Given the description of an element on the screen output the (x, y) to click on. 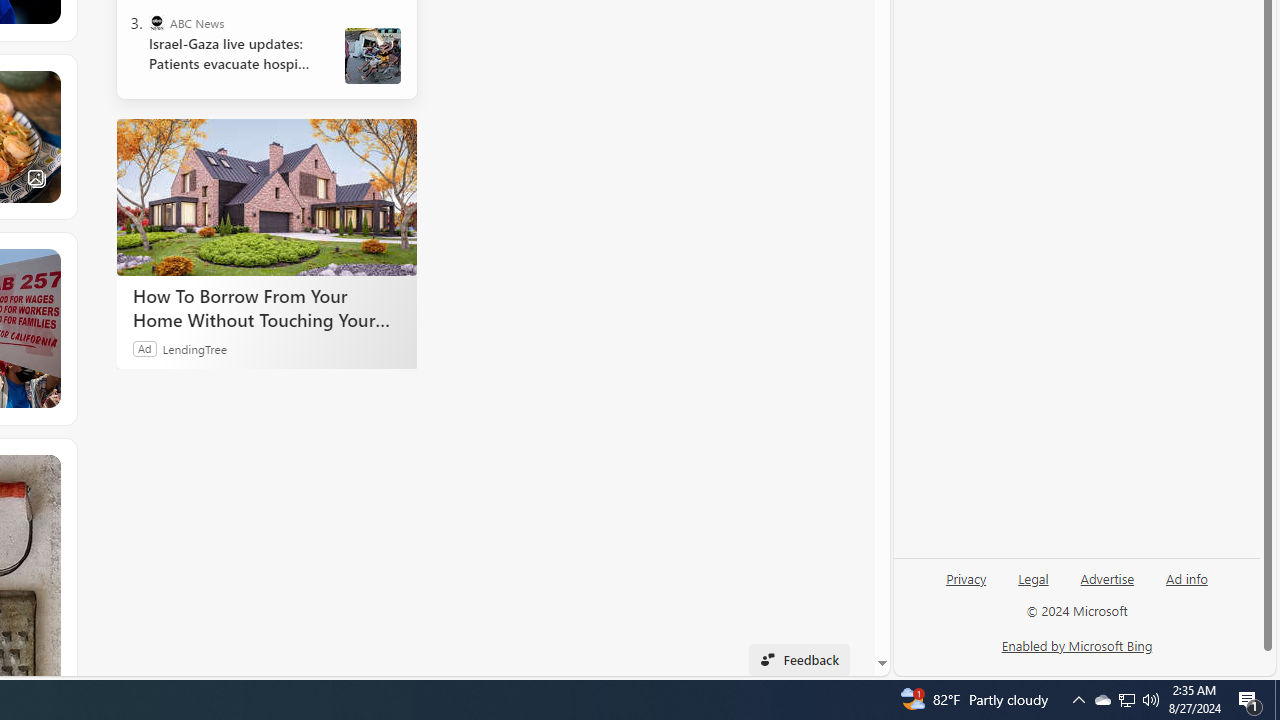
ABC News (156, 22)
